Given the description of an element on the screen output the (x, y) to click on. 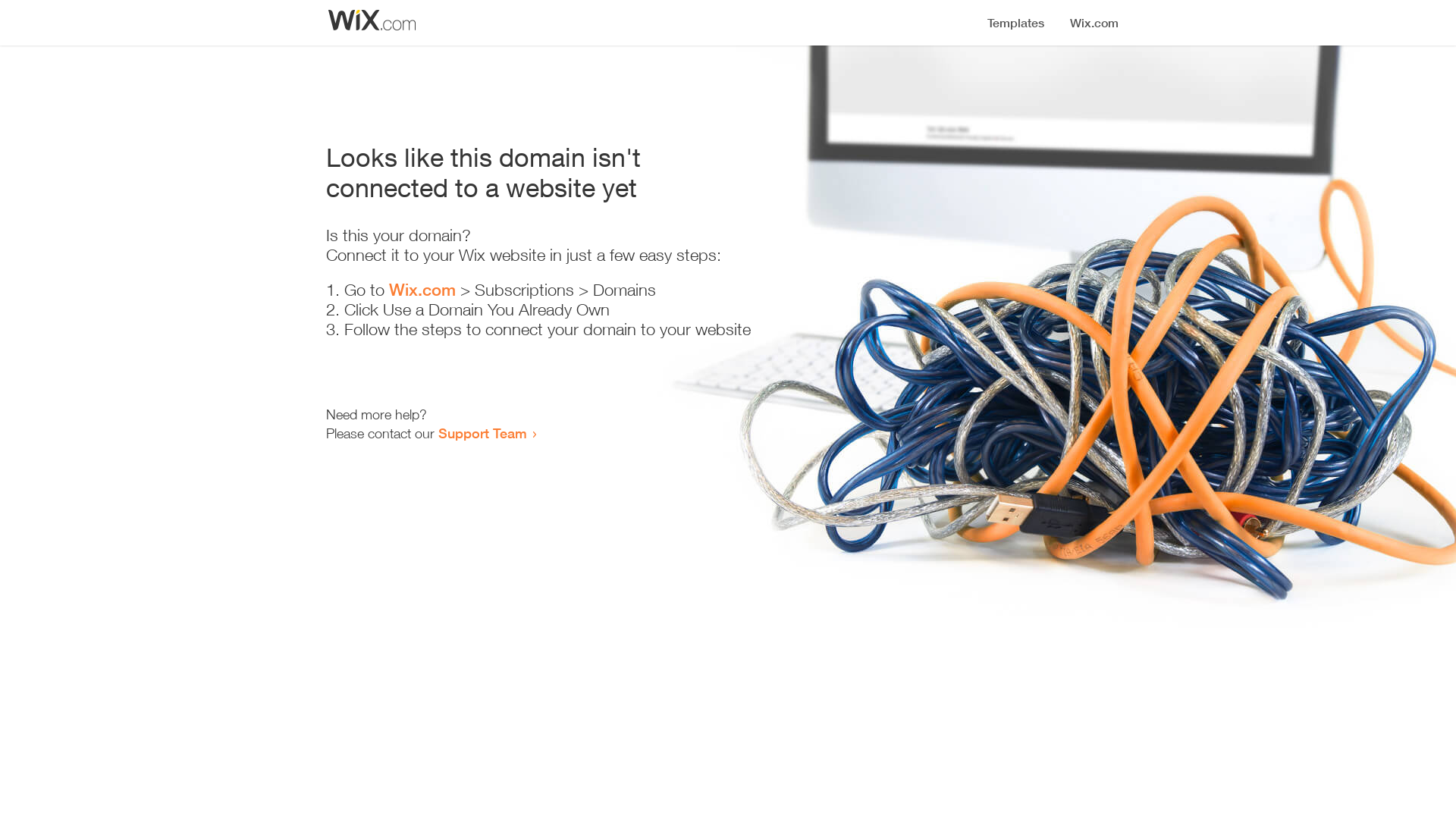
Support Team Element type: text (482, 432)
Wix.com Element type: text (422, 289)
